Given the description of an element on the screen output the (x, y) to click on. 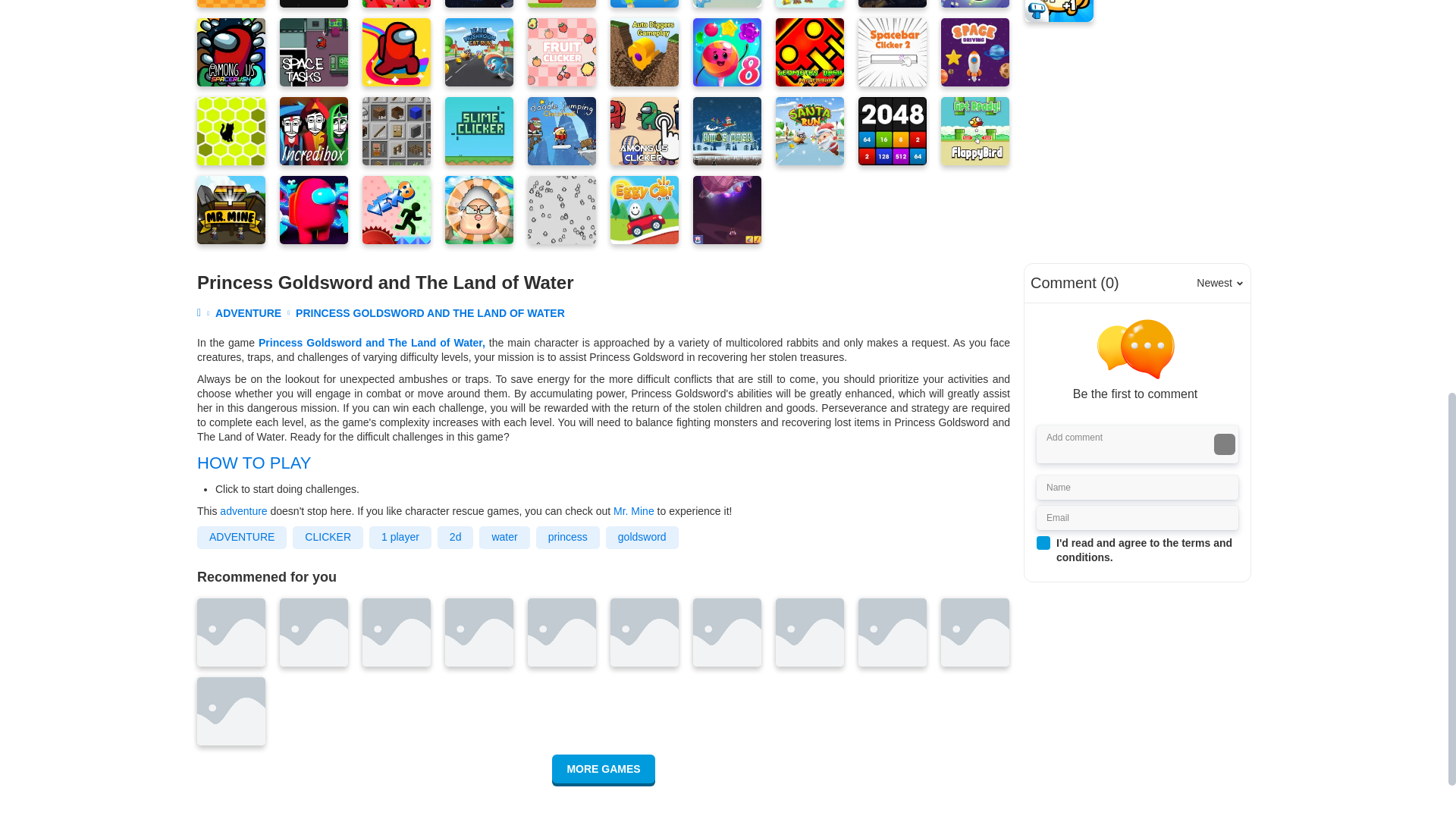
Duck Duck Clicker (230, 3)
Be the first to comment (1141, 360)
Clicker Royale (313, 3)
Planet of the Plants (479, 3)
Watermelon Clicker (396, 3)
